Given the description of an element on the screen output the (x, y) to click on. 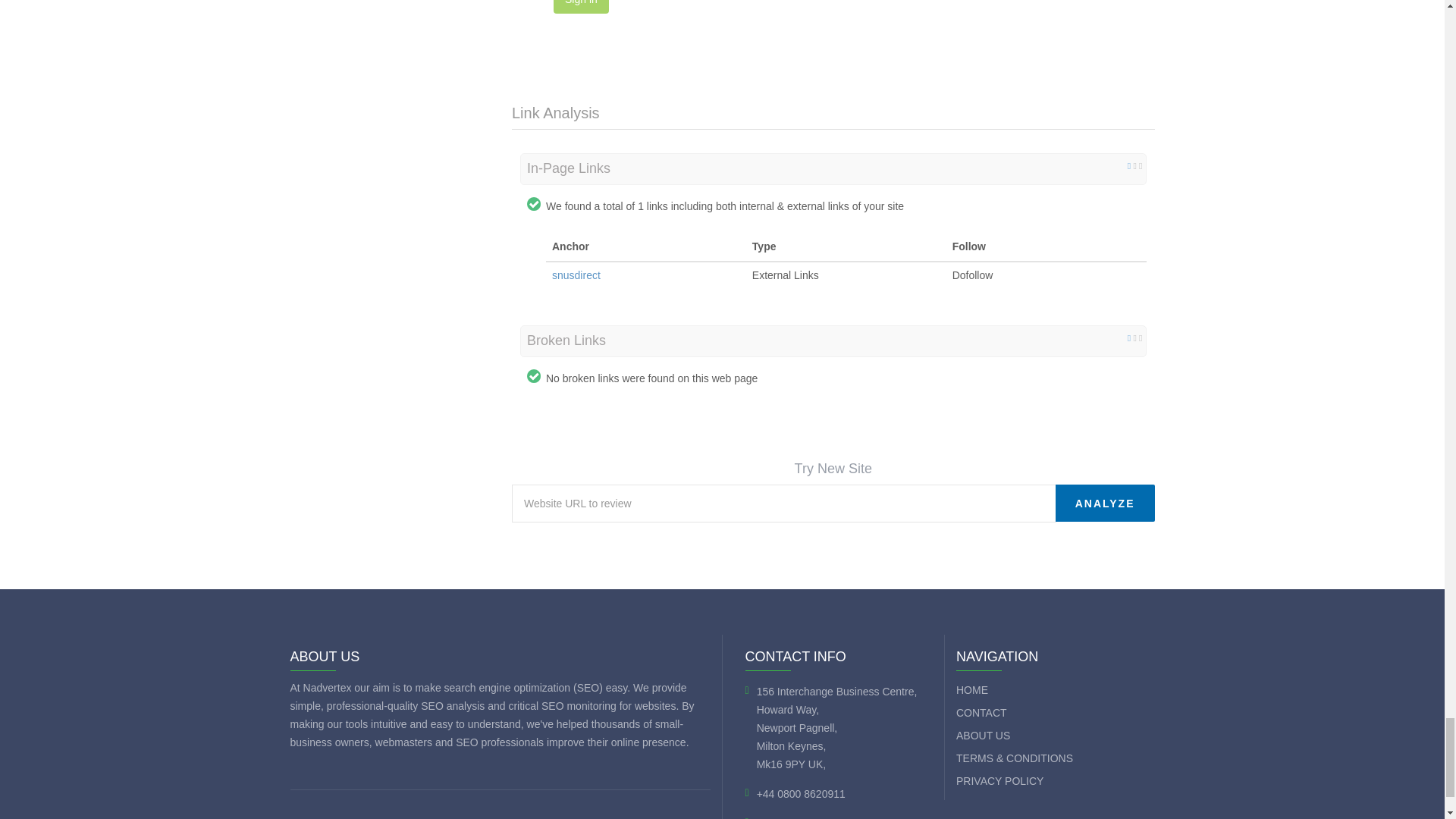
snusdirect (575, 275)
Sign in (580, 6)
